Given the description of an element on the screen output the (x, y) to click on. 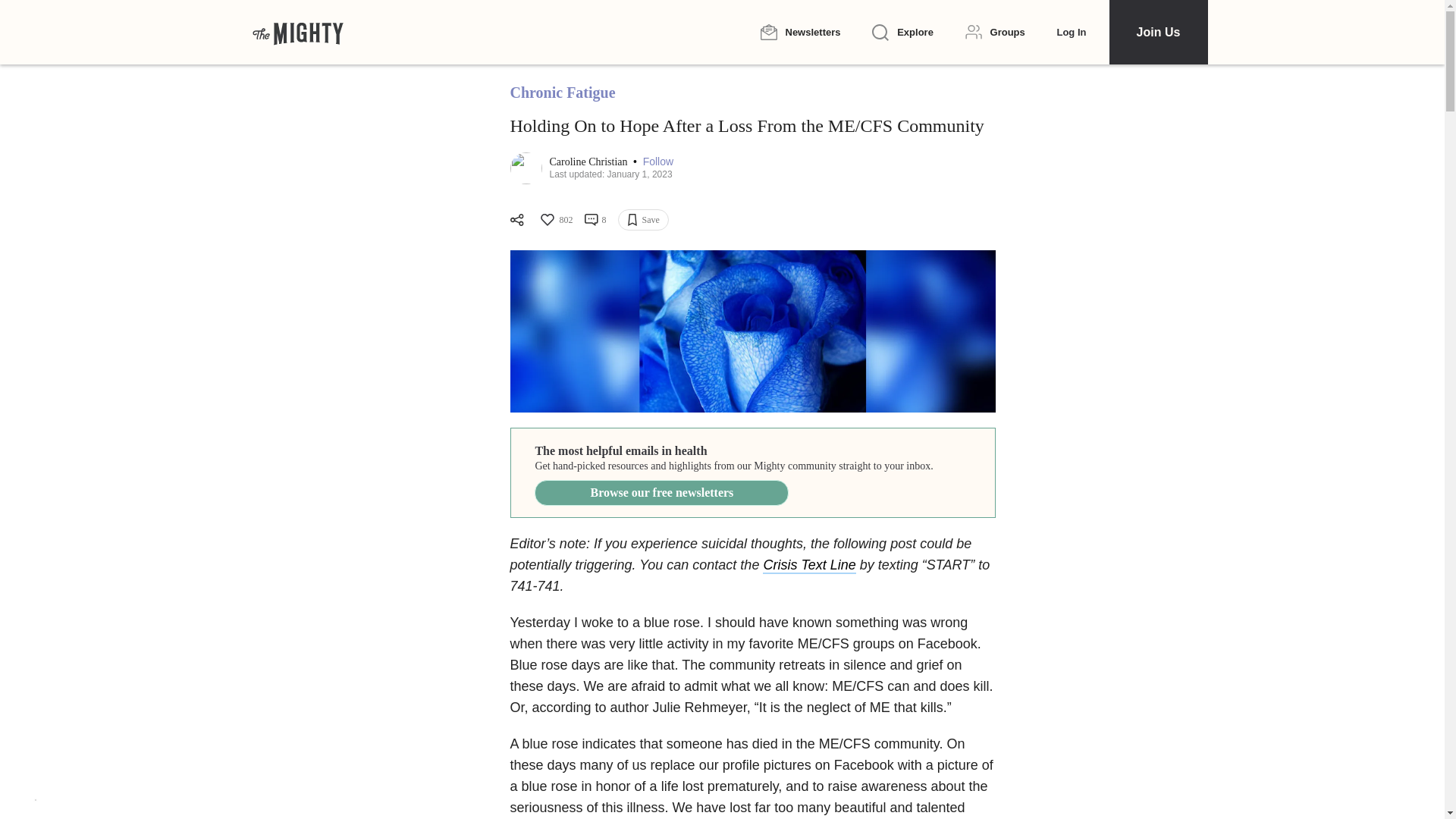
802 (555, 219)
Chronic Fatigue (561, 92)
The Mighty (296, 32)
Crisis Text Line (809, 565)
Browse our free newsletters (661, 492)
Caroline Christian (589, 161)
Save (642, 219)
8 (594, 219)
The Risks of Death for People With Chronic Fatigue Syndrome (751, 331)
Groups (995, 32)
